Given the description of an element on the screen output the (x, y) to click on. 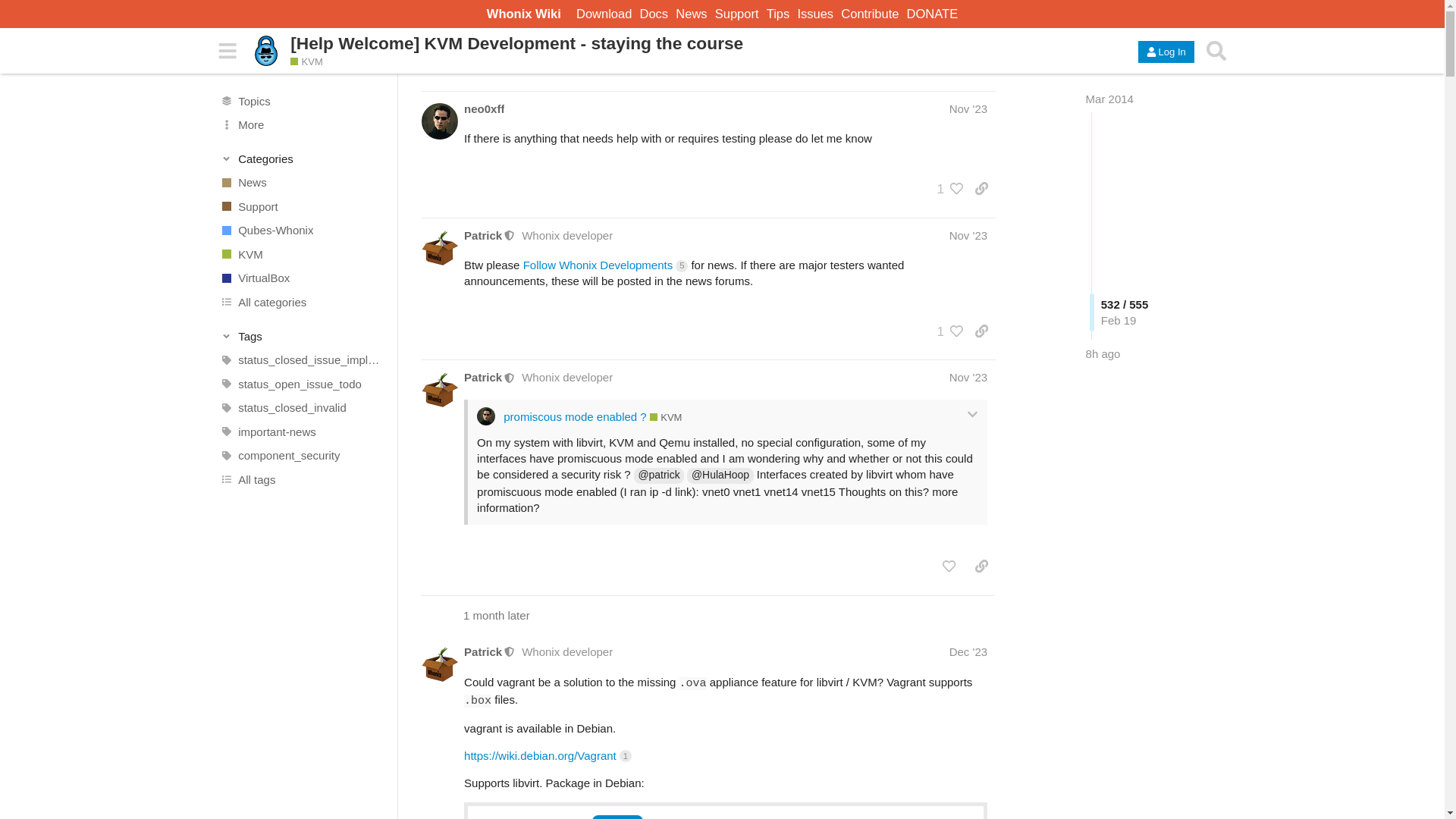
News (301, 182)
Contribute (869, 14)
All topics (301, 100)
Topics (301, 100)
Tags (301, 335)
KVM (301, 254)
Whonix Wiki (523, 14)
Toggle section (301, 158)
Qubes-Whonix (301, 230)
DONATE (932, 14)
Issues (814, 14)
Categories (301, 158)
neo0xff (483, 108)
All categories (301, 302)
Download (603, 14)
